Given the description of an element on the screen output the (x, y) to click on. 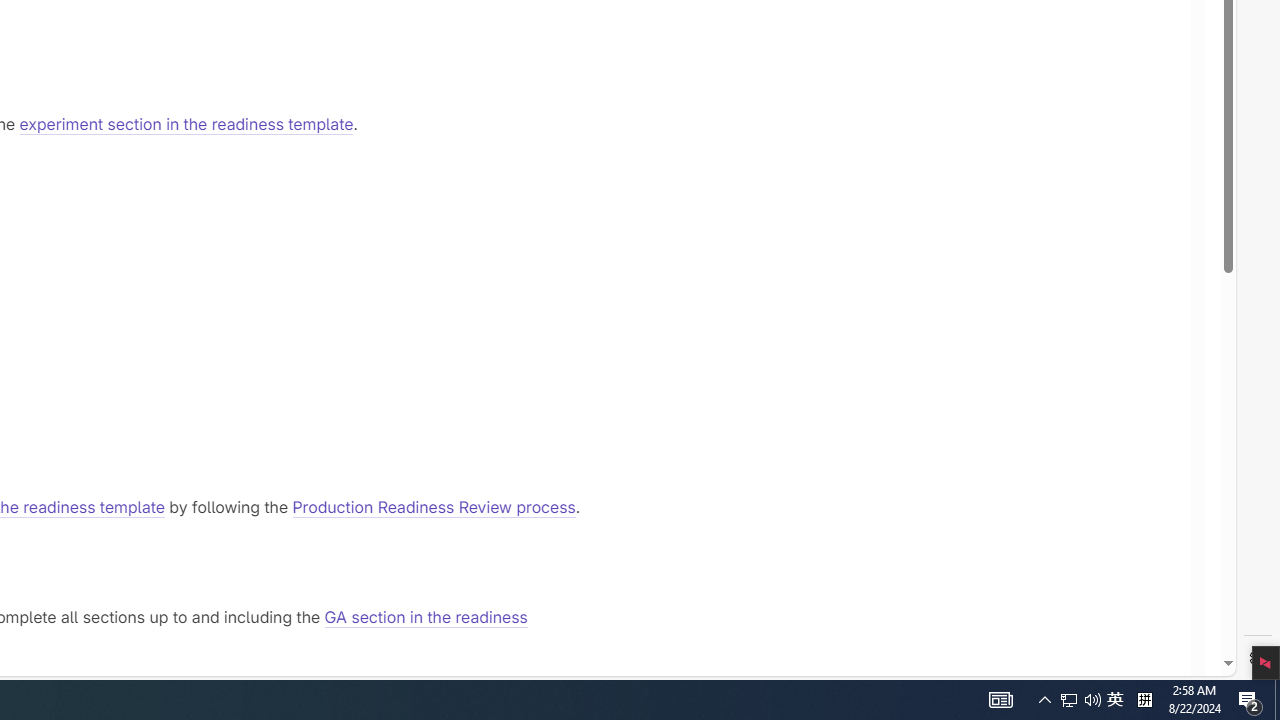
Production Readiness Review process (433, 506)
experiment section in the readiness template (186, 124)
